Given the description of an element on the screen output the (x, y) to click on. 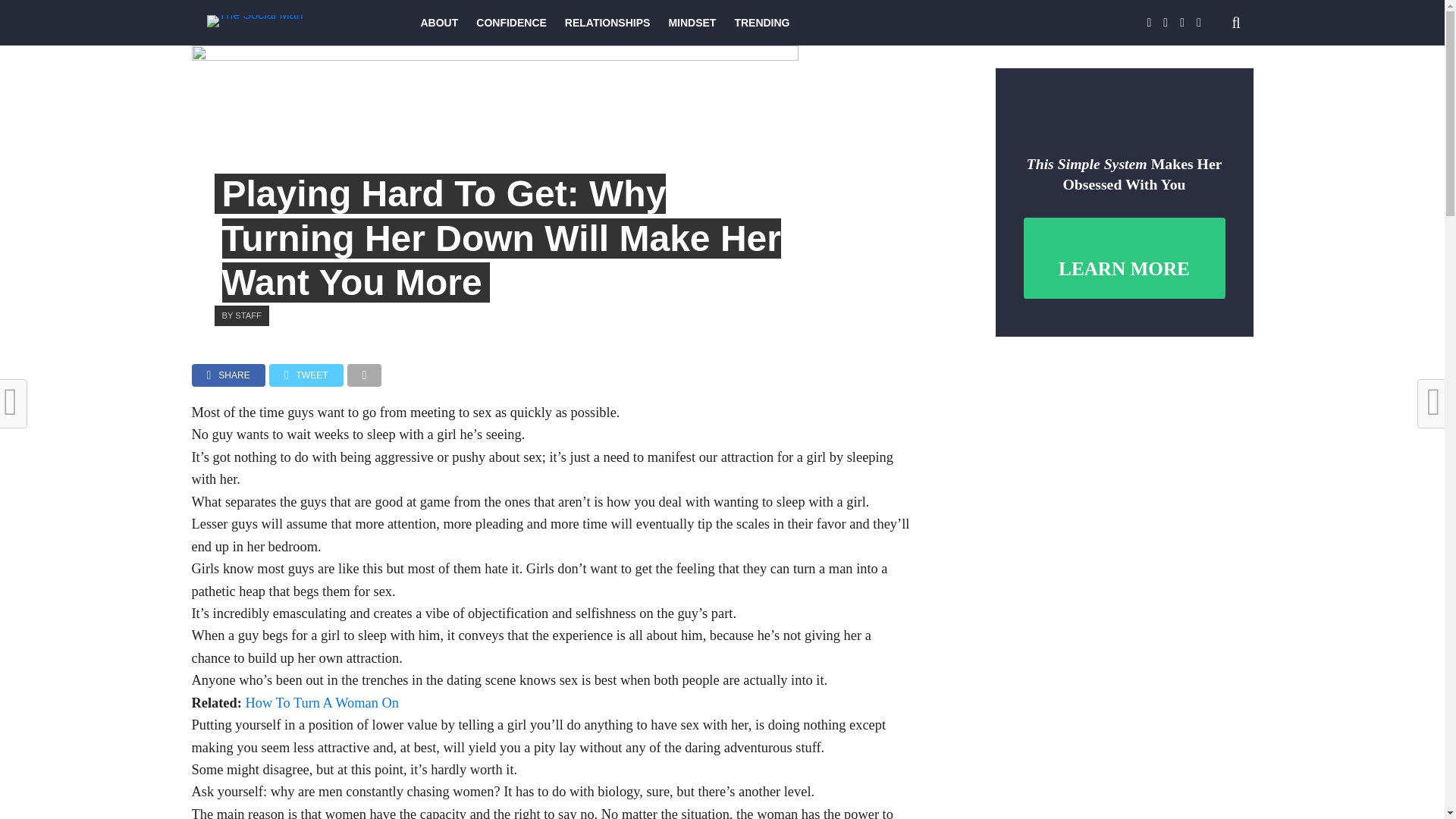
TRENDING (761, 22)
CONFIDENCE (511, 22)
MINDSET (692, 22)
RELATIONSHIPS (607, 22)
How To Turn A Woman On (322, 702)
ABOUT (438, 22)
